Given the description of an element on the screen output the (x, y) to click on. 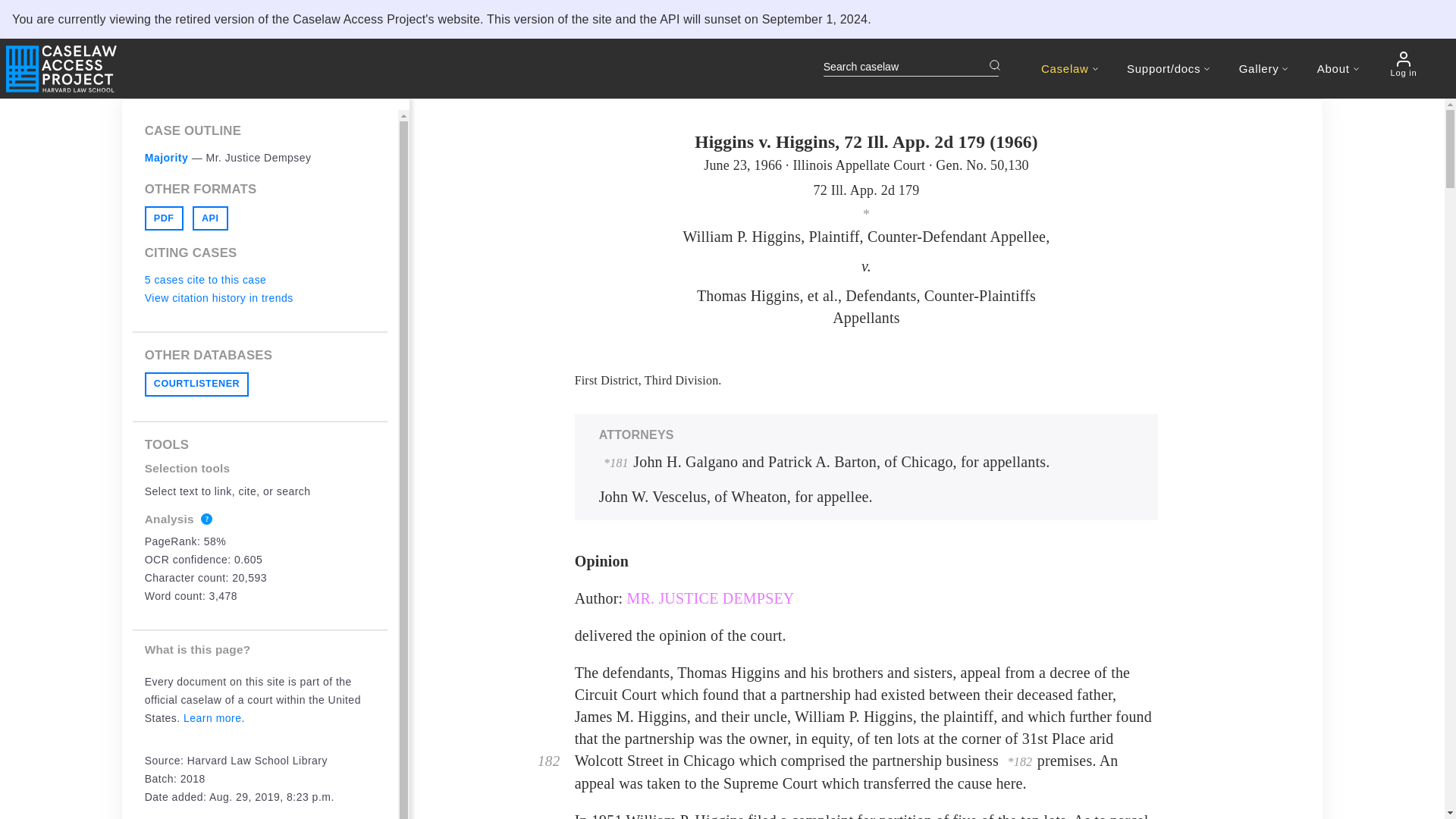
COURTLISTENER (196, 384)
5 cases cite to this case (205, 279)
View citation history in trends (219, 297)
Caselaw (1069, 68)
Gallery (1263, 68)
Log in (1403, 64)
About (1338, 68)
API (210, 218)
Learn more (212, 717)
PDF (163, 218)
